Given the description of an element on the screen output the (x, y) to click on. 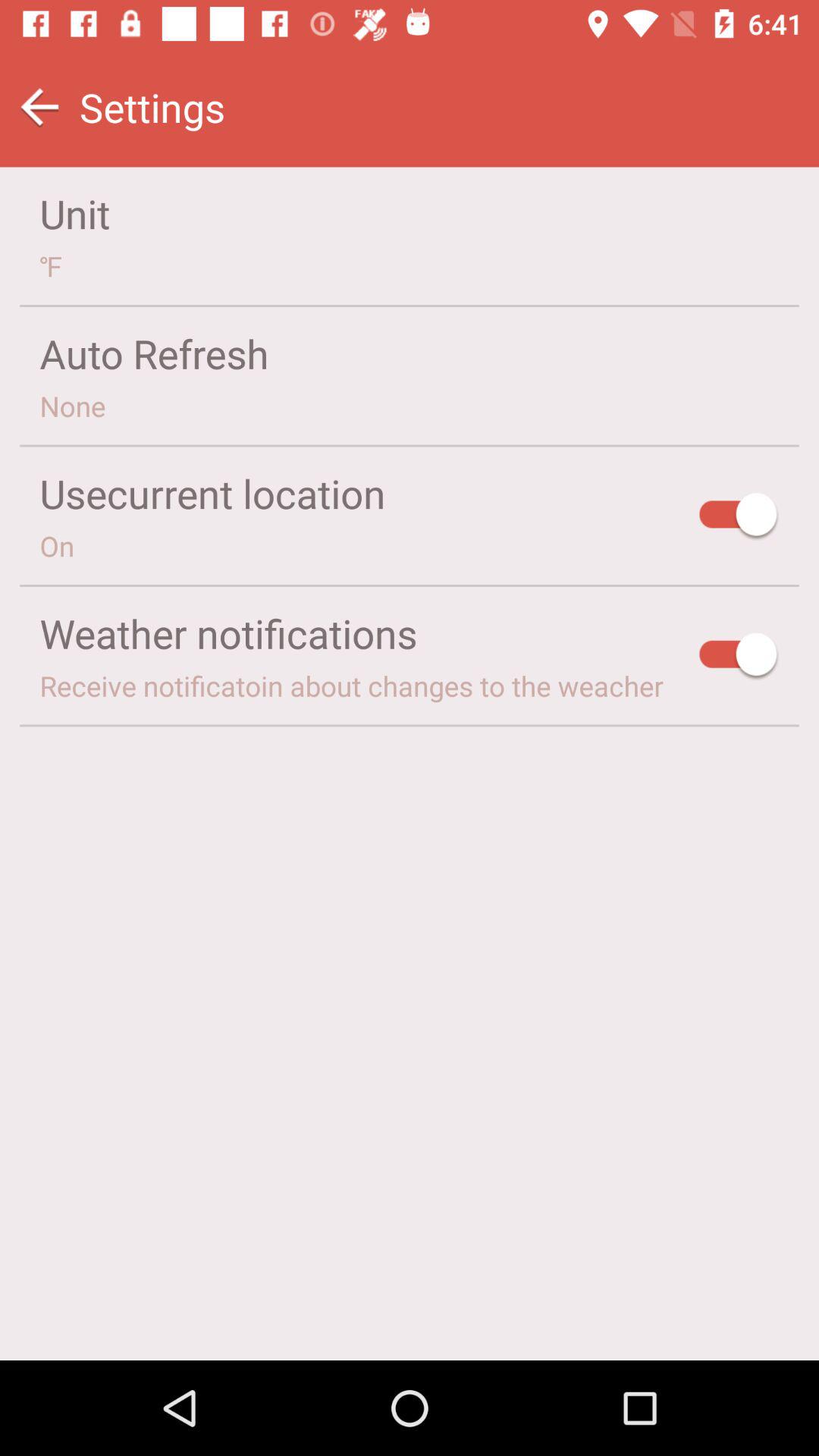
tap the icon to the right of the weather notifications (739, 656)
